Given the description of an element on the screen output the (x, y) to click on. 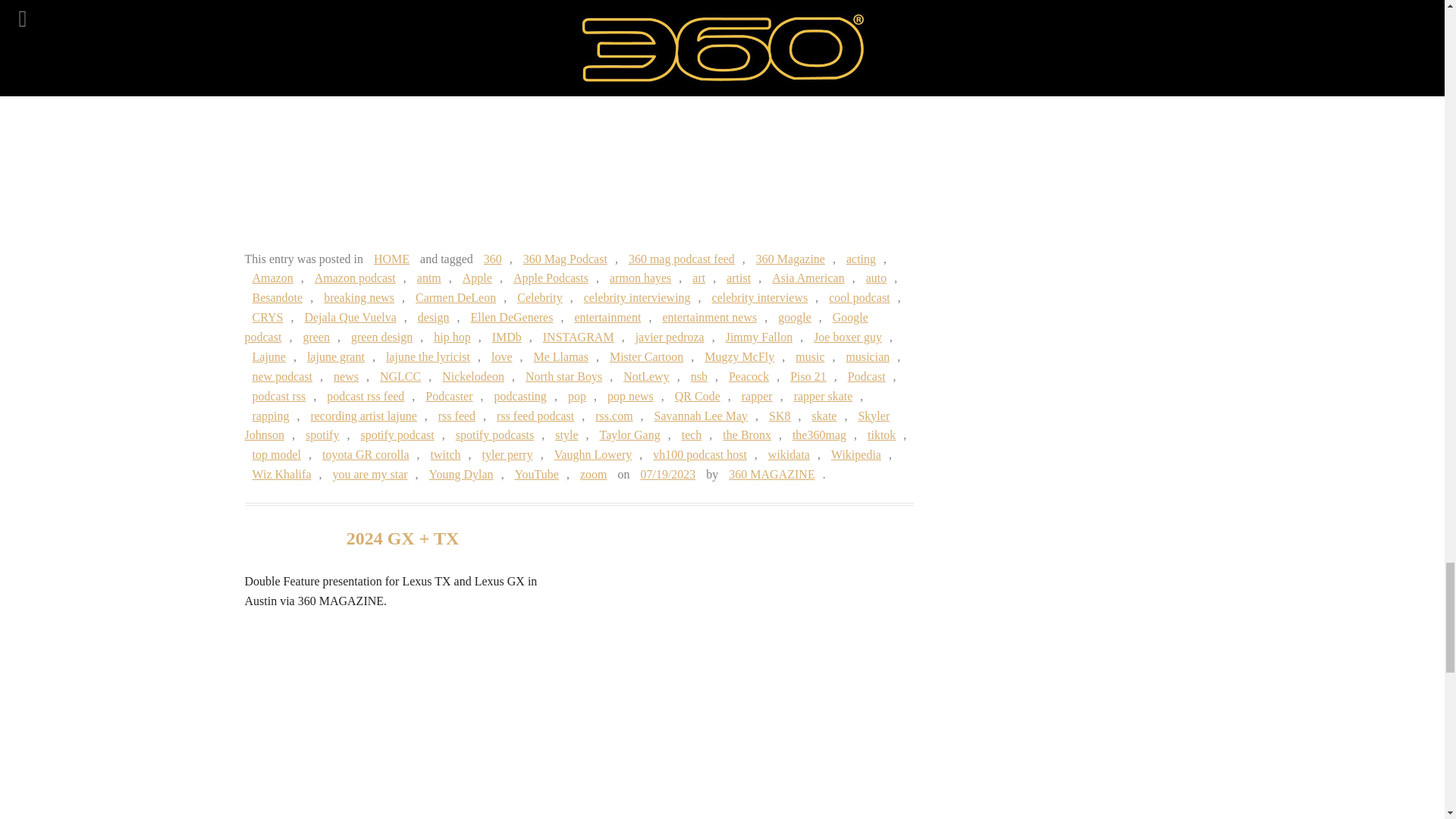
6:58 pm (667, 473)
View all posts by 360 MAGAZINE (771, 473)
